Given the description of an element on the screen output the (x, y) to click on. 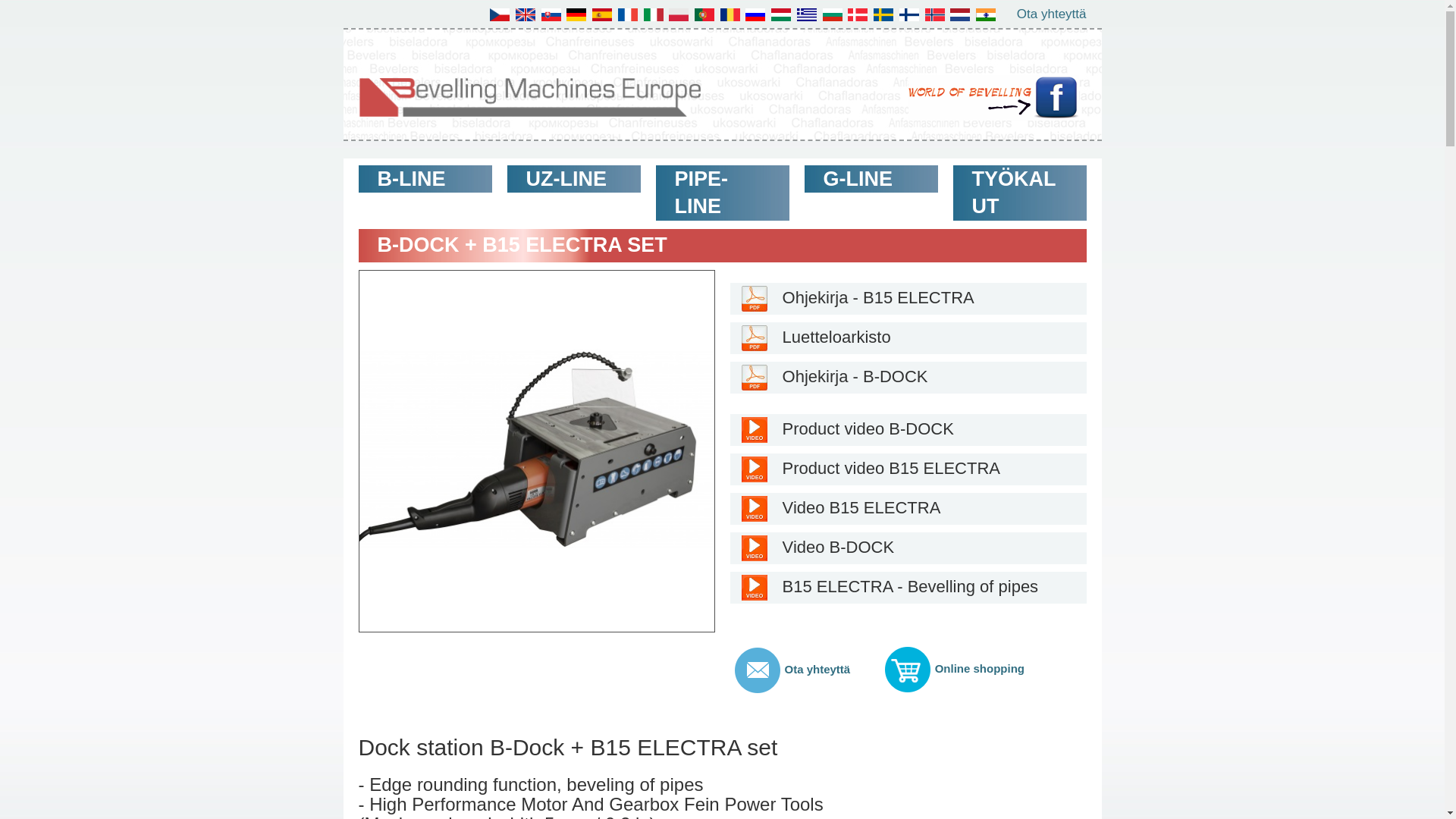
G-LINE (870, 178)
english (525, 14)
UZ-LINE (573, 178)
Product video B15 ELECTRA (907, 469)
B15 ELECTRA - Bevelling of pipes (907, 587)
Indian (985, 14)
deutsch (576, 14)
Video B15 ELECTRA (907, 508)
Nederlands (959, 14)
Ohjekirja - B15 ELECTRA (907, 297)
